Given the description of an element on the screen output the (x, y) to click on. 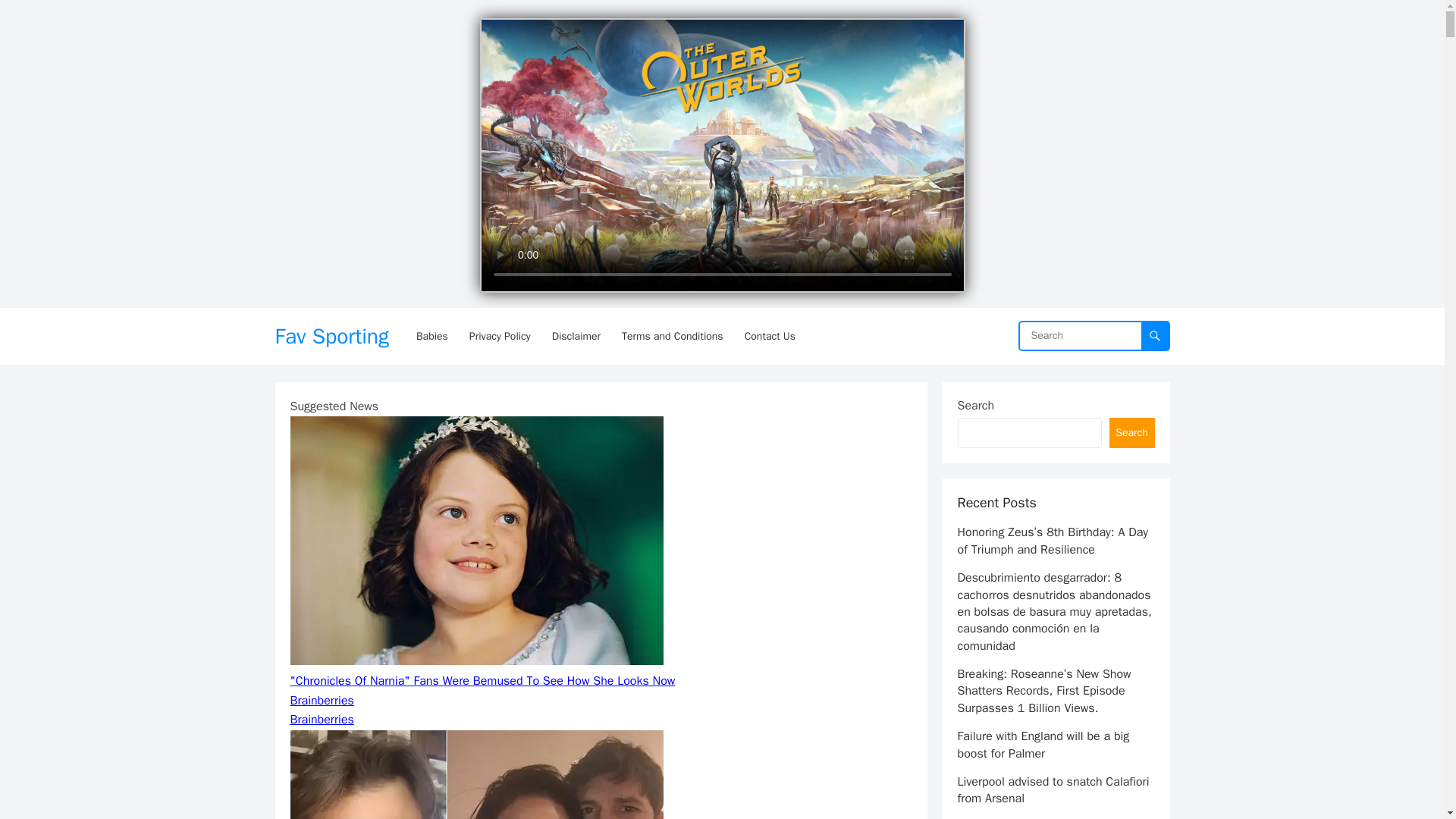
Disclaimer (576, 335)
Close (947, 30)
Contact Us (770, 335)
Terms and Conditions (672, 335)
Fav Sporting (331, 335)
Close (947, 30)
Privacy Policy (500, 335)
